Given the description of an element on the screen output the (x, y) to click on. 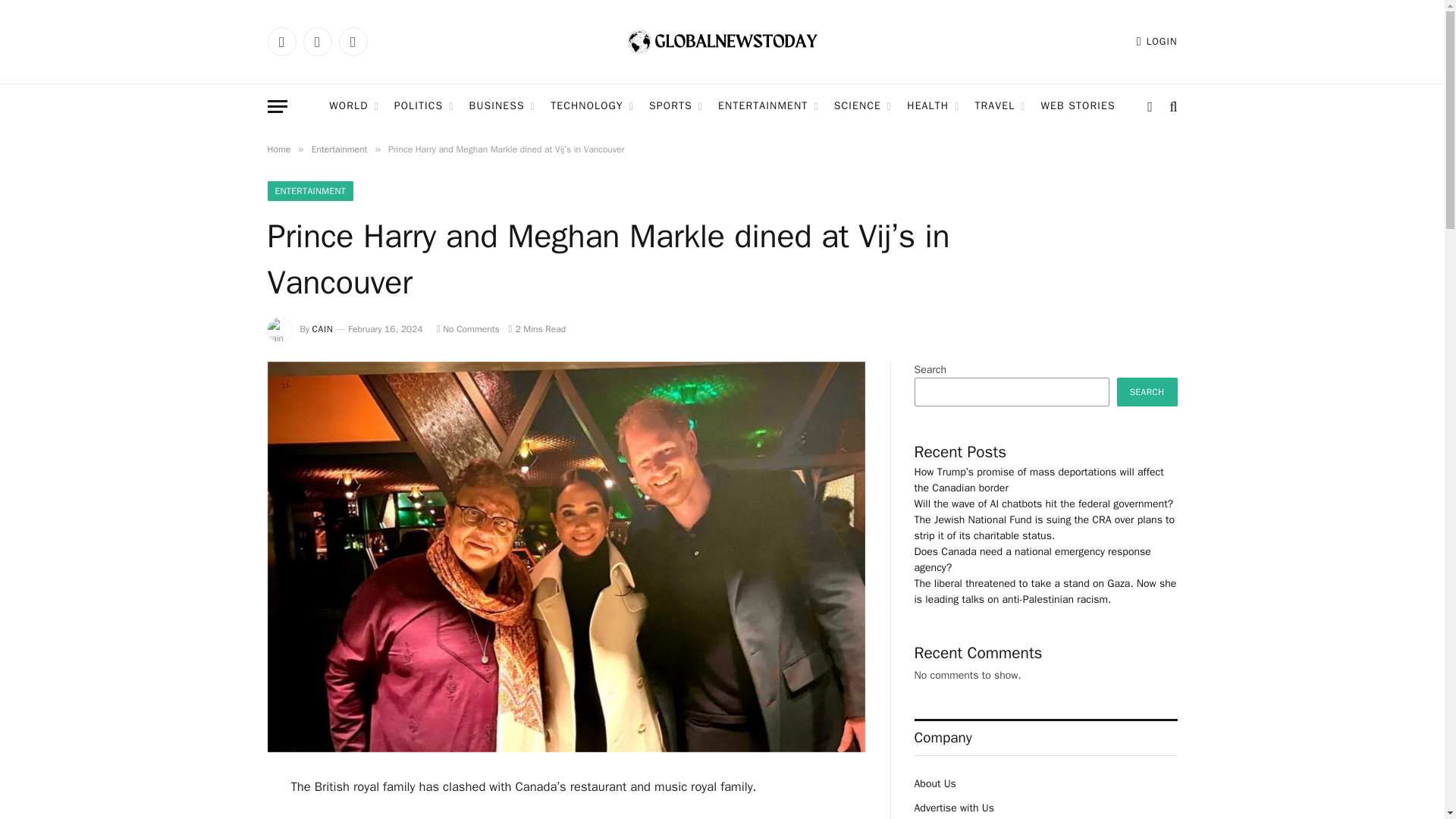
LOGIN (1157, 41)
POLITICS (424, 106)
Facebook (280, 41)
WORLD (353, 106)
Instagram (351, 41)
GlobalNewsToday (721, 41)
